Given the description of an element on the screen output the (x, y) to click on. 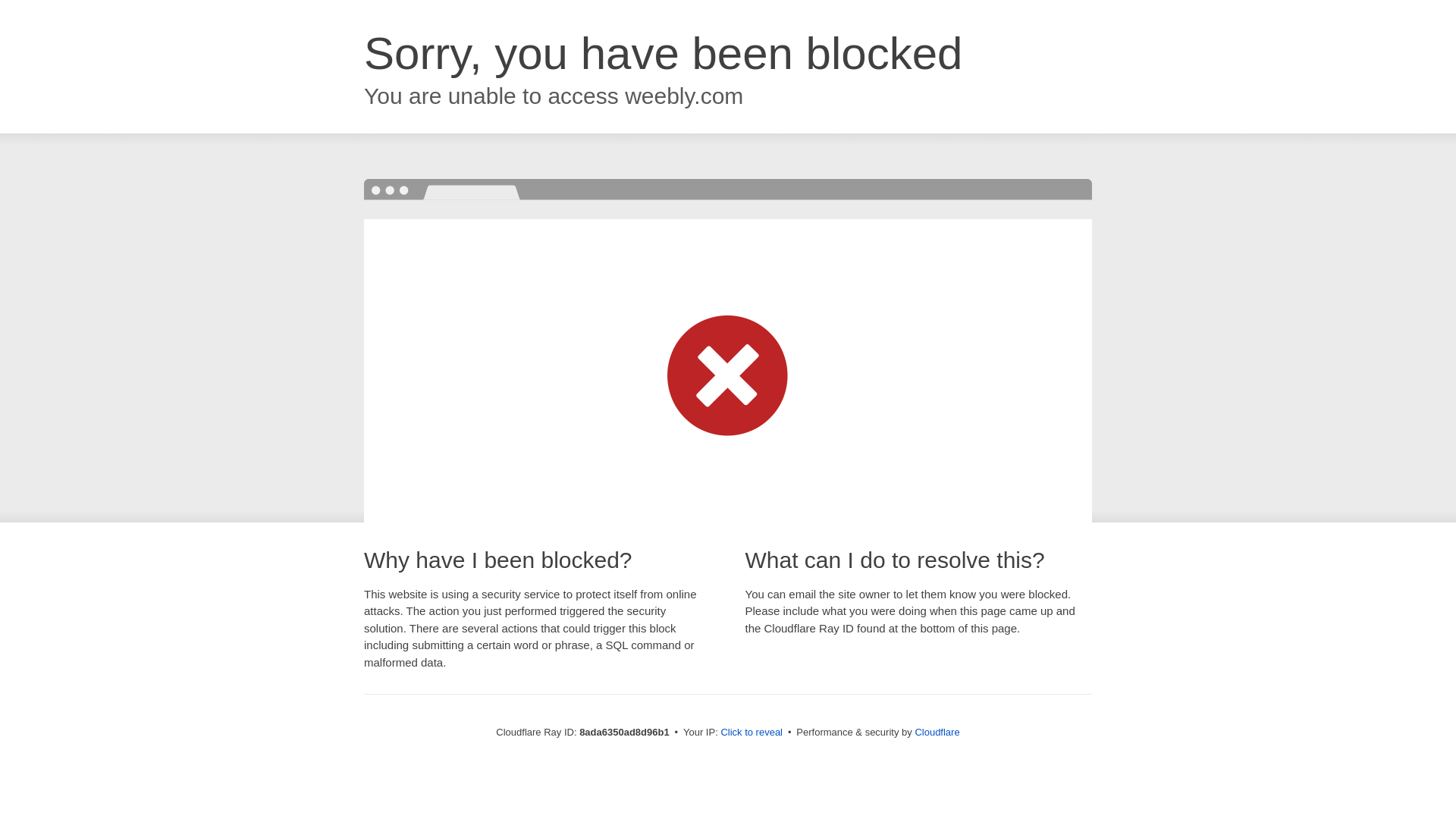
Cloudflare (936, 731)
Click to reveal (751, 732)
